Given the description of an element on the screen output the (x, y) to click on. 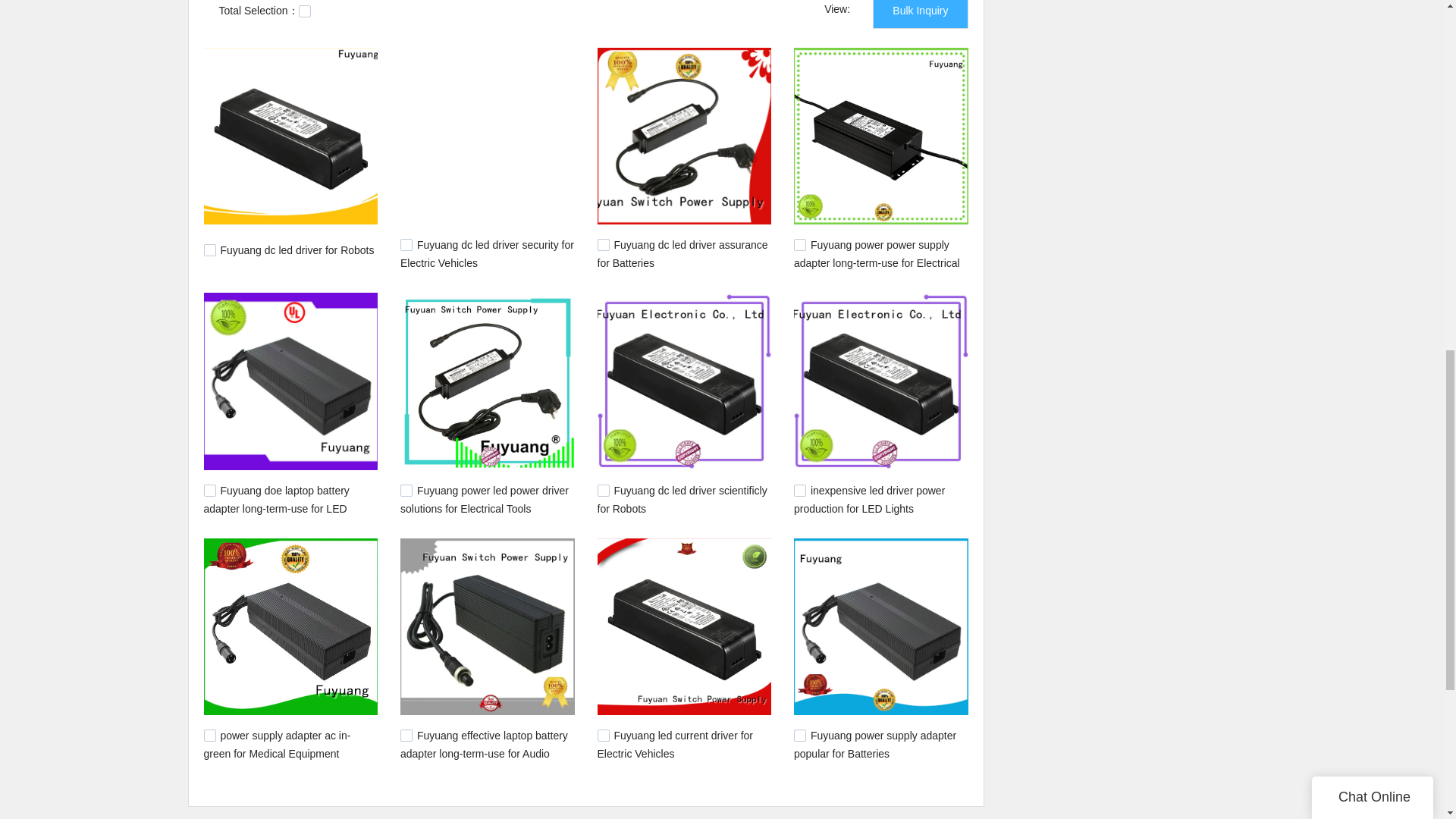
1810 (603, 735)
1985 (406, 490)
2499 (406, 244)
on (304, 10)
1843 (799, 490)
Fuyuang dc led driver scientificly for Robots (681, 499)
Fuyuang dc led driver for Robots (296, 250)
inexpensive led driver power production for LED Lights (868, 499)
